Given the description of an element on the screen output the (x, y) to click on. 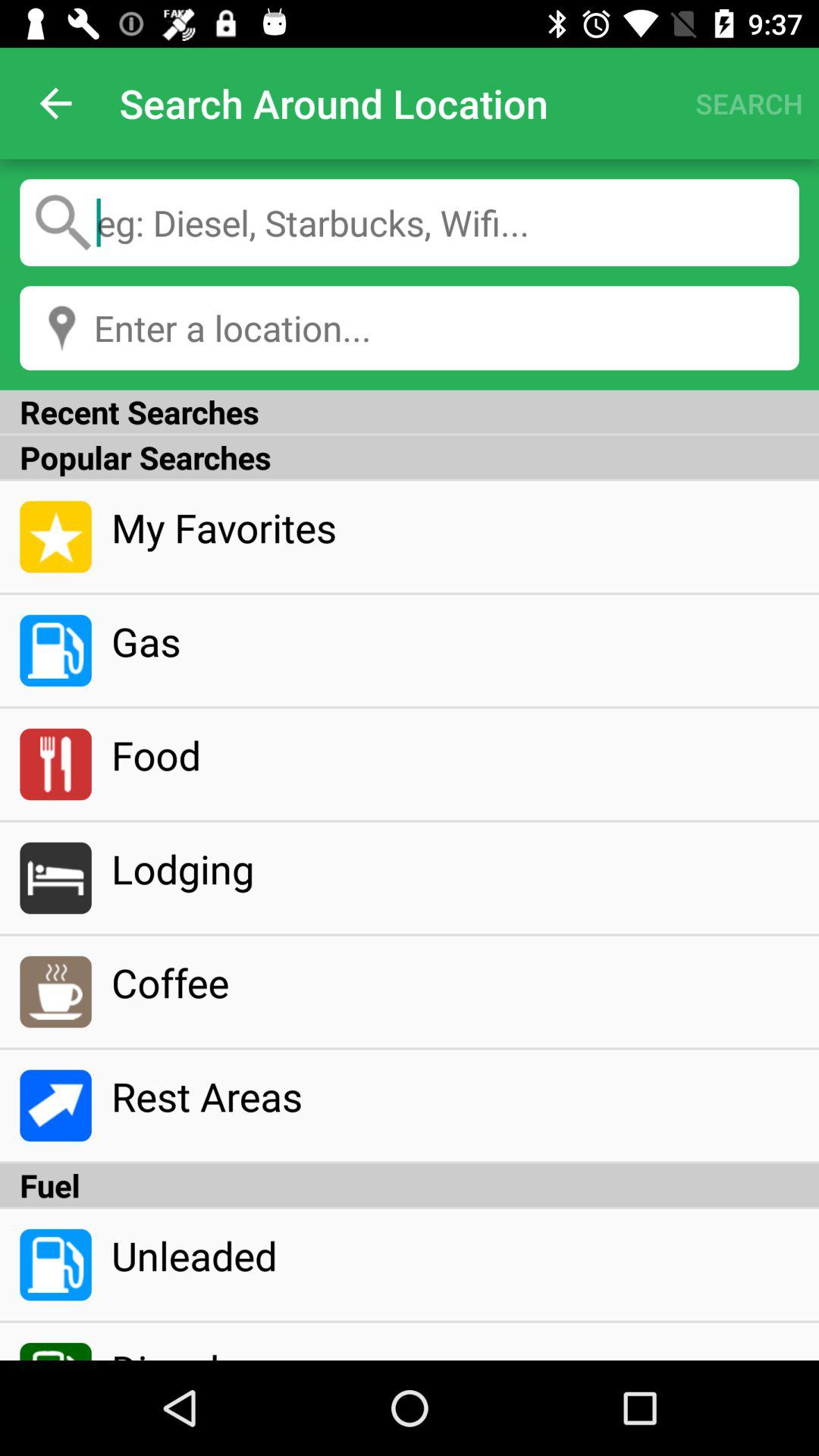
jump until coffee item (455, 982)
